Given the description of an element on the screen output the (x, y) to click on. 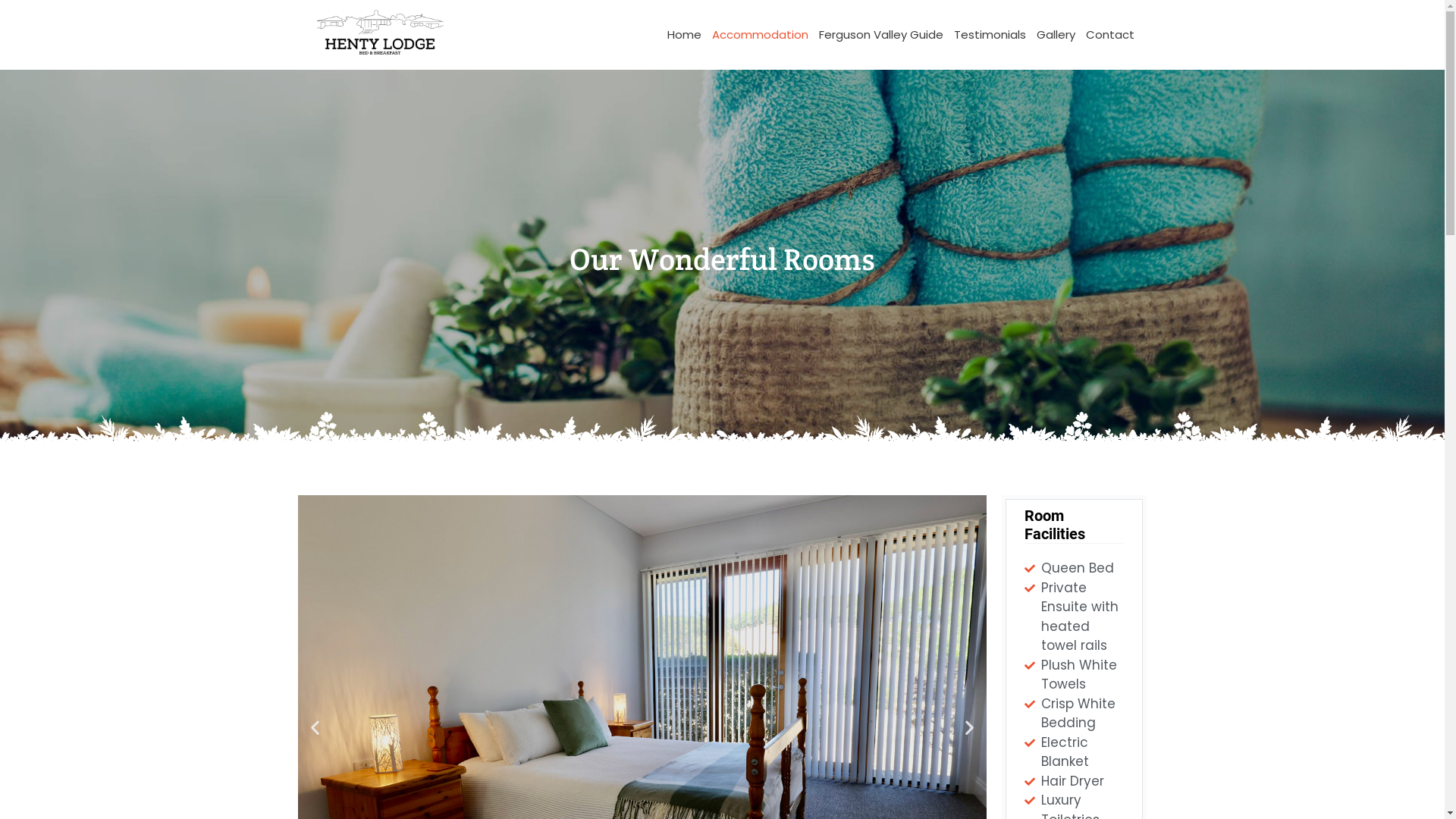
Ferguson Valley Guide Element type: text (879, 34)
Testimonials Element type: text (988, 34)
Henty Lodge Element type: hover (379, 34)
Home Element type: text (683, 34)
Contact Element type: text (1109, 34)
Gallery Element type: text (1055, 34)
Accommodation Element type: text (759, 34)
